Given the description of an element on the screen output the (x, y) to click on. 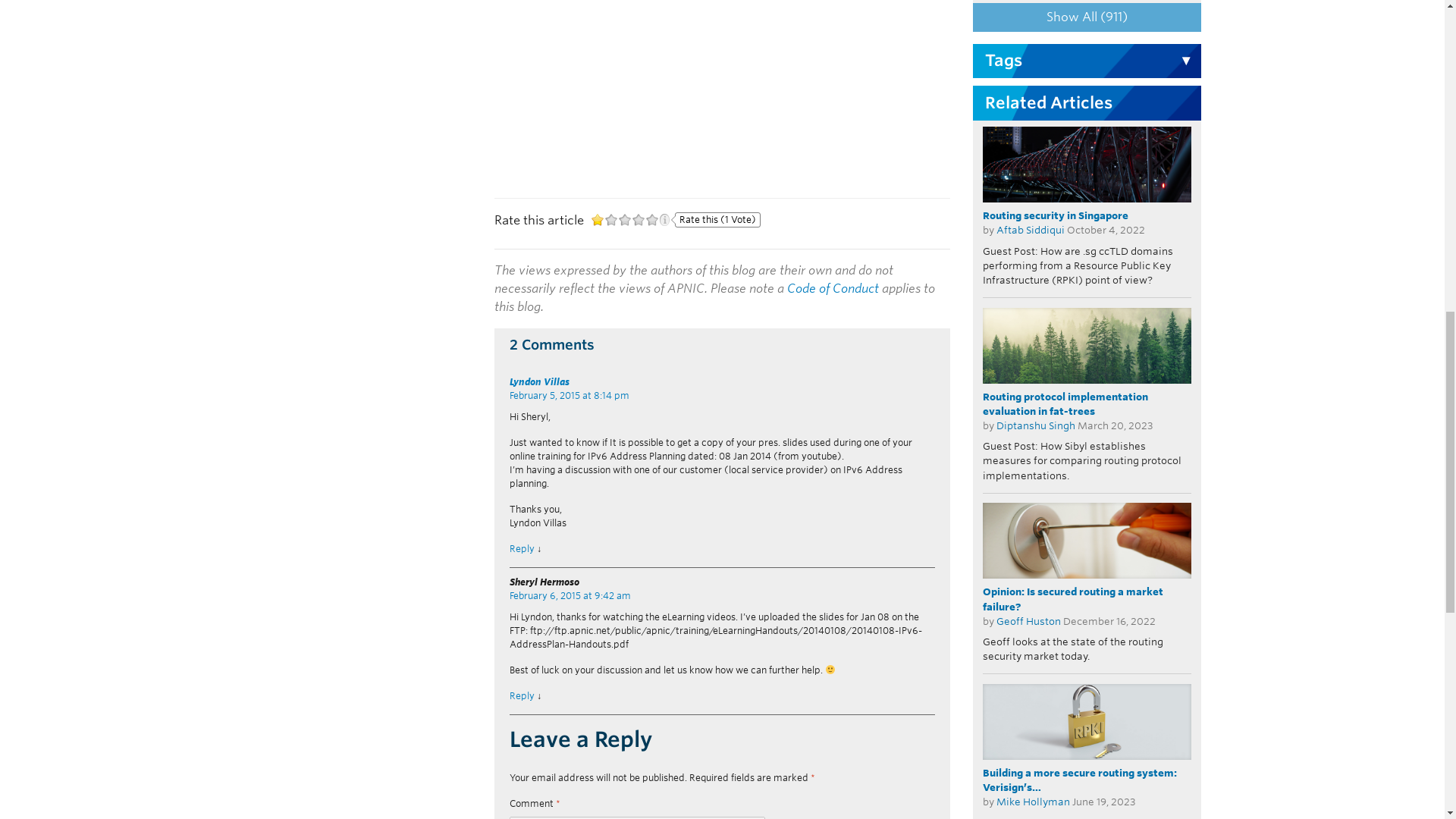
Opinion: Is secured routing a market failure? (1086, 540)
Routing security in Singapore (1086, 164)
Routing protocol implementation evaluation in fat-trees (1086, 345)
